Given the description of an element on the screen output the (x, y) to click on. 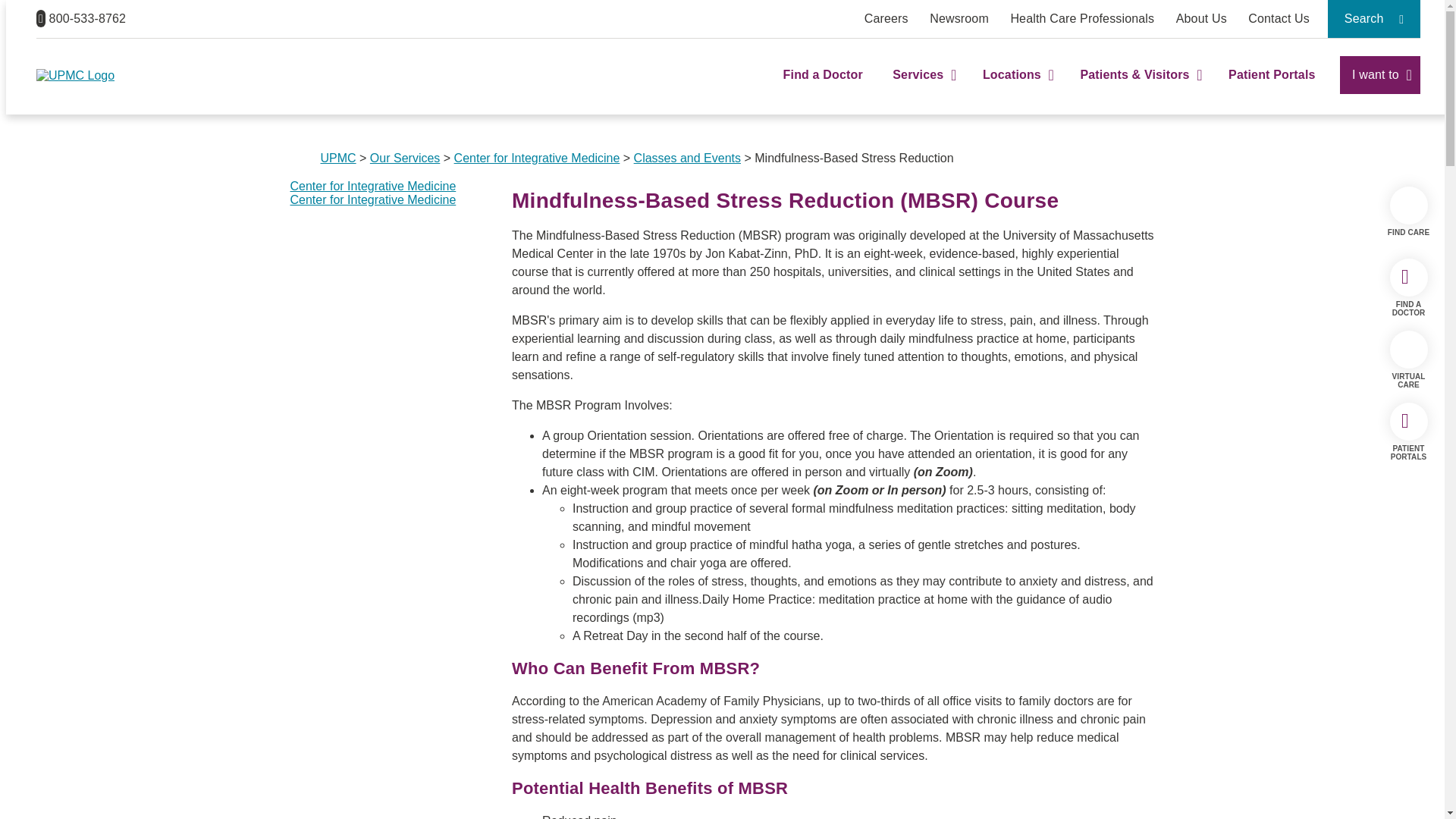
Health Care Professionals (1082, 18)
Learn more about careers and job openings at UPMC. (886, 18)
Contact Us (1277, 18)
Search (1374, 18)
Careers (886, 18)
UPMC (75, 74)
About Us (1201, 18)
800-533-8762 (80, 18)
Contact UPMC (1277, 18)
Services (922, 88)
